Given the description of an element on the screen output the (x, y) to click on. 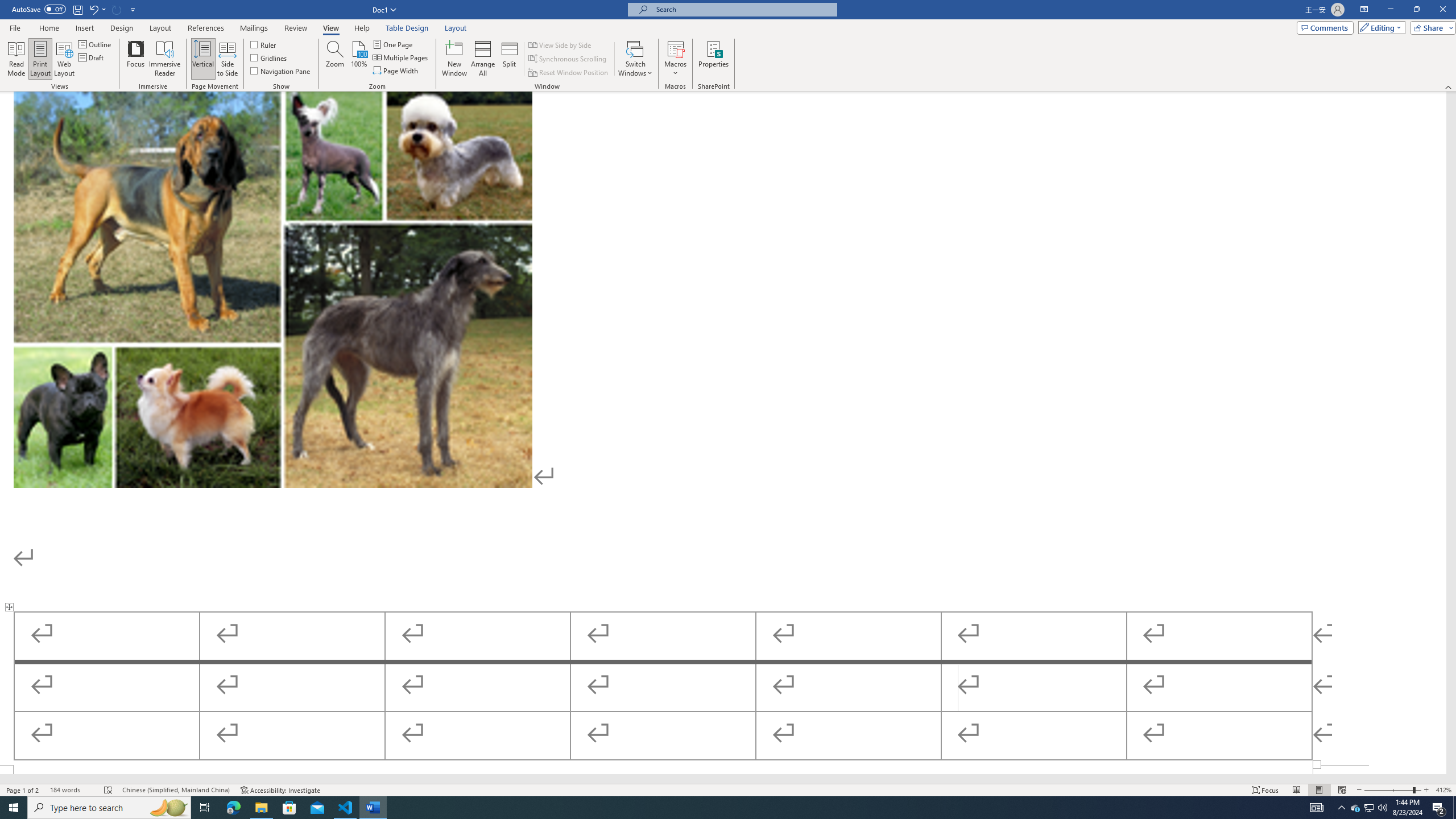
Synchronous Scrolling (568, 58)
Page 1 content (722, 427)
New Window (454, 58)
Switch Windows (635, 58)
View Side by Side (561, 44)
Zoom... (334, 58)
Word Count 184 words (71, 790)
Focus (135, 58)
